Given the description of an element on the screen output the (x, y) to click on. 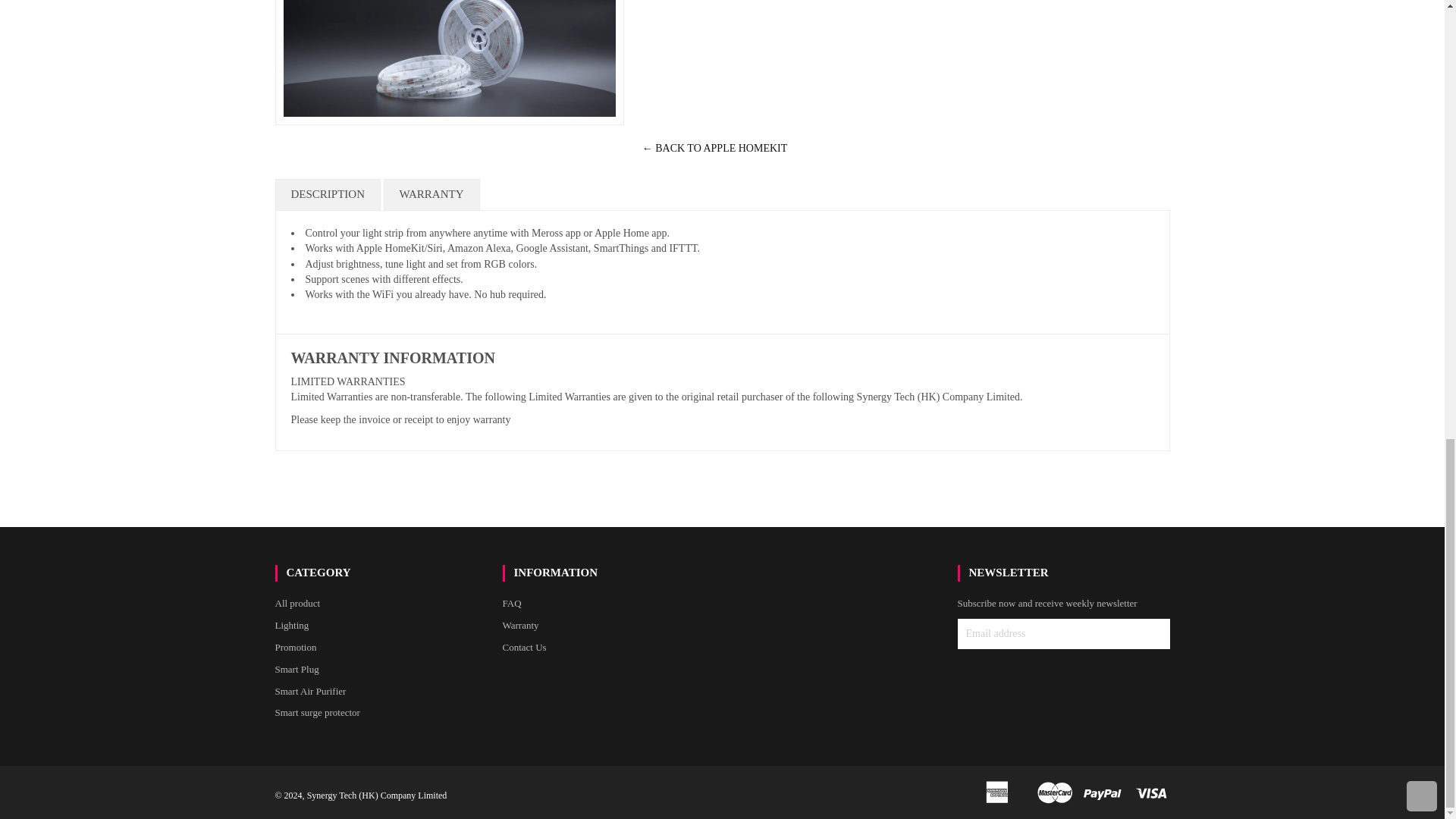
Promotion (295, 646)
All product (297, 603)
DESCRIPTION (327, 194)
WARRANTY (432, 194)
Warranty (520, 624)
Smart Air Purifier (310, 690)
Contact Us (524, 646)
Lighting (291, 624)
Smart surge protector (317, 712)
FAQ (511, 603)
Smart Plug (296, 668)
